Given the description of an element on the screen output the (x, y) to click on. 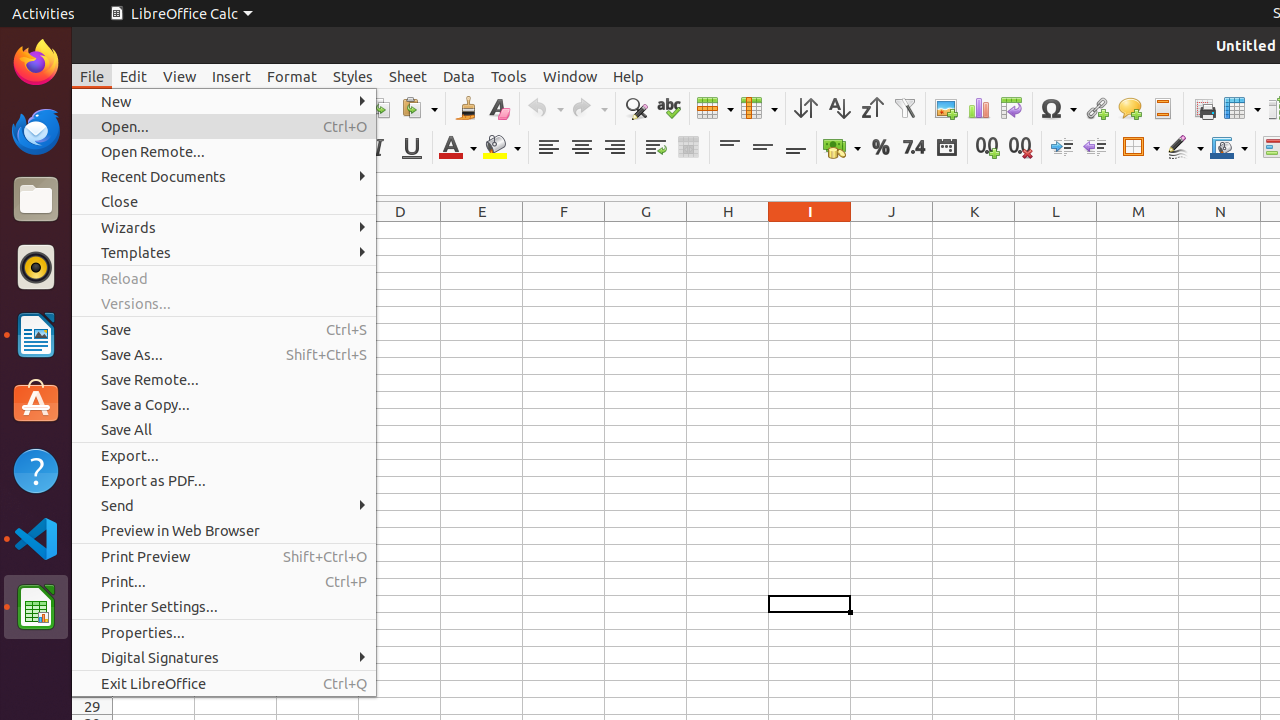
Preview in Web Browser Element type: menu-item (224, 530)
New Element type: menu (224, 101)
Symbol Element type: push-button (1058, 108)
Borders (Shift to overwrite) Element type: push-button (1141, 147)
Undo Element type: push-button (545, 108)
